Given the description of an element on the screen output the (x, y) to click on. 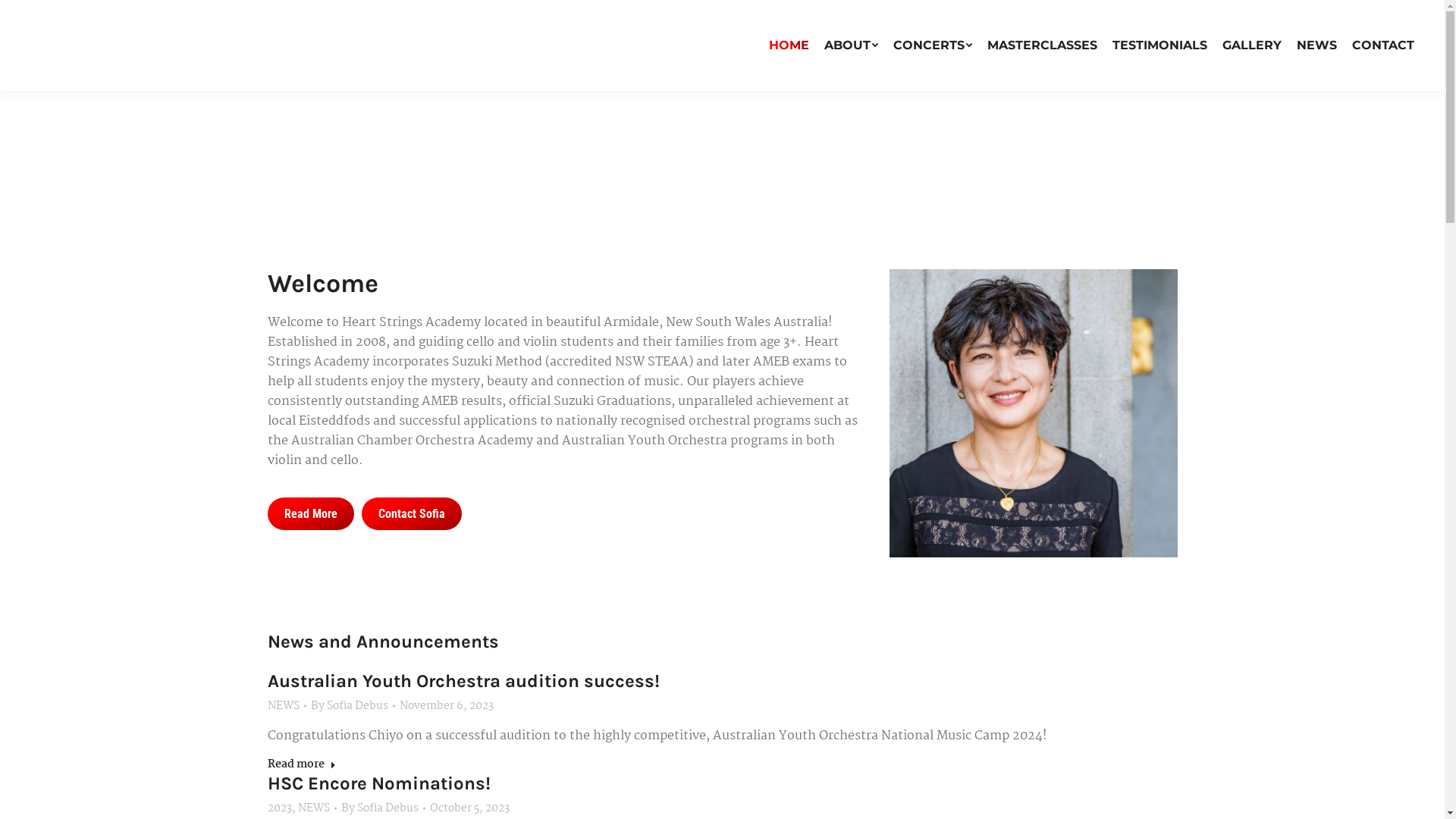
HSC Encore Nominations! Element type: text (377, 783)
Read more Element type: text (300, 767)
NEWS Element type: text (282, 705)
Self6 Element type: hover (1032, 413)
Read More Element type: text (309, 513)
NEWS Element type: text (313, 808)
Contact Sofia Element type: text (410, 513)
MASTERCLASSES Element type: text (1041, 45)
CONCERTS Element type: text (932, 45)
2023 Element type: text (278, 808)
By Sofia Debus Element type: text (383, 808)
NEWS Element type: text (1316, 45)
TESTIMONIALS Element type: text (1159, 45)
November 6, 2023 Element type: text (445, 705)
HOME Element type: text (788, 45)
ABOUT Element type: text (850, 45)
GALLERY Element type: text (1251, 45)
By Sofia Debus Element type: text (352, 705)
October 5, 2023 Element type: text (468, 808)
Australian Youth Orchestra audition success! Element type: text (462, 680)
CONTACT Element type: text (1382, 45)
